Given the description of an element on the screen output the (x, y) to click on. 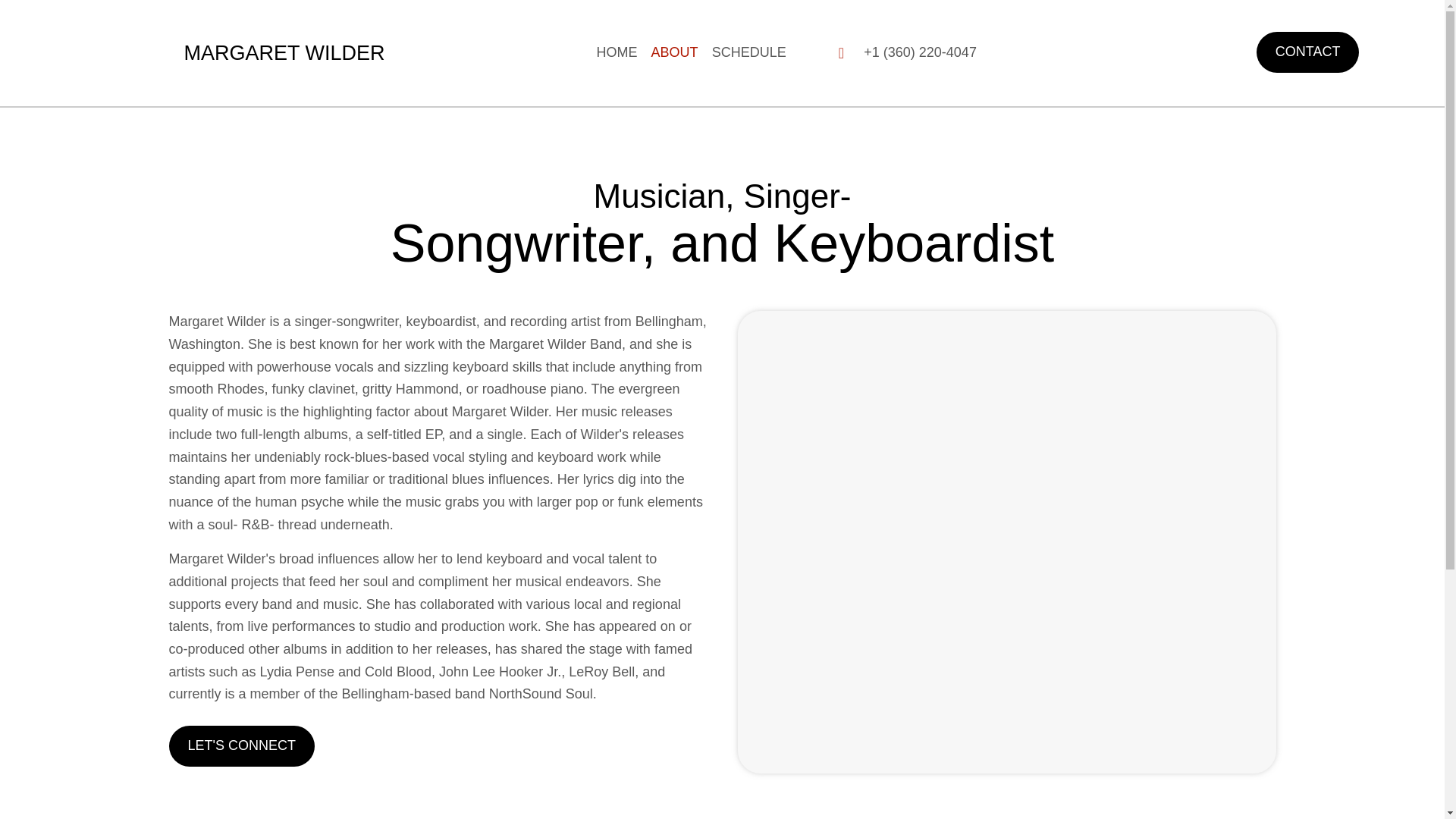
LET'S CONNECT (241, 745)
Facebook (1120, 53)
HOME (617, 52)
Margaret Wilder (126, 53)
Bandcamp (1162, 53)
SCHEDULE (748, 52)
ABOUT (674, 52)
CONTACT (1307, 51)
